Given the description of an element on the screen output the (x, y) to click on. 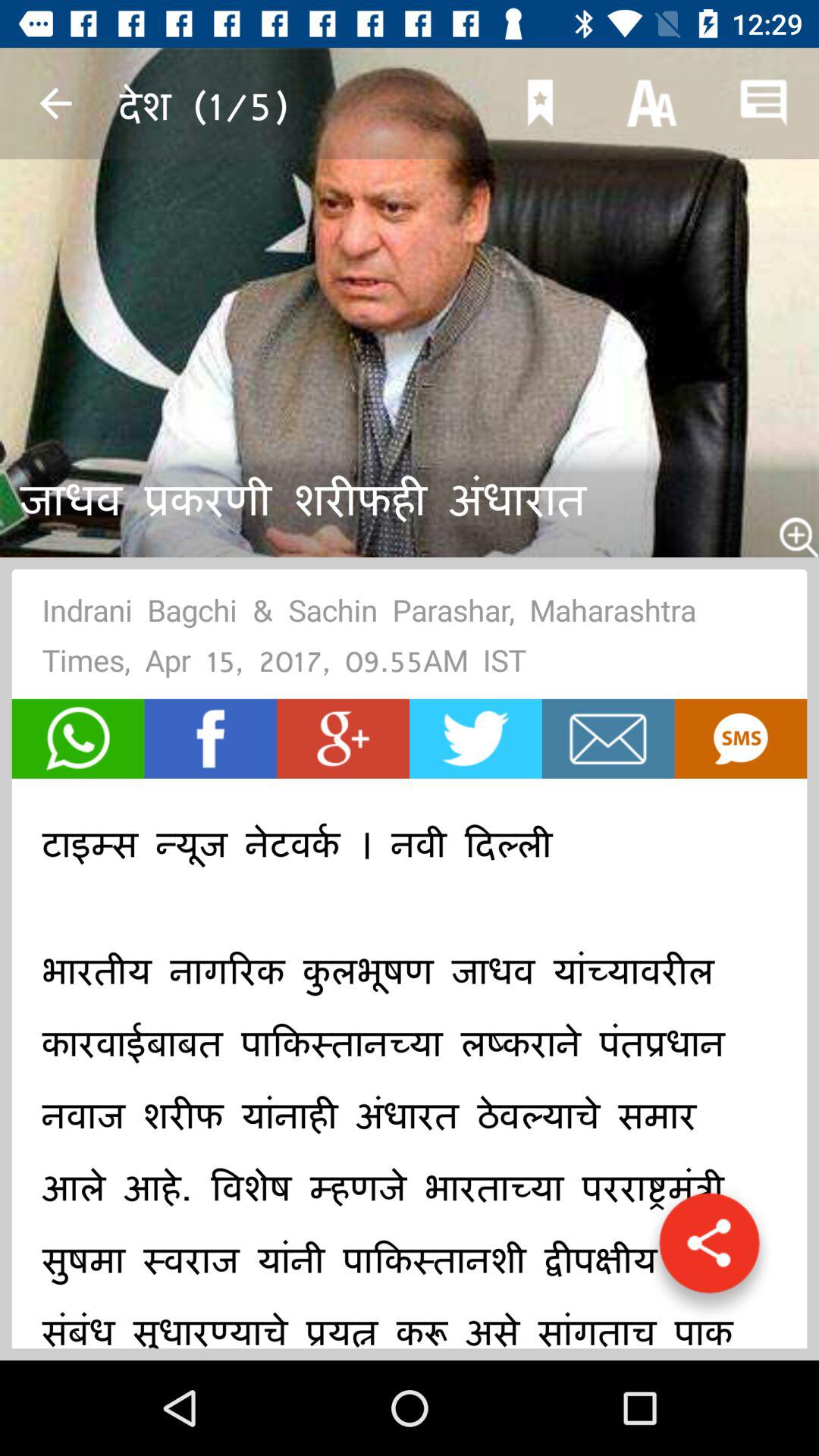
tap the indrani bagchi sachin item (409, 639)
